Given the description of an element on the screen output the (x, y) to click on. 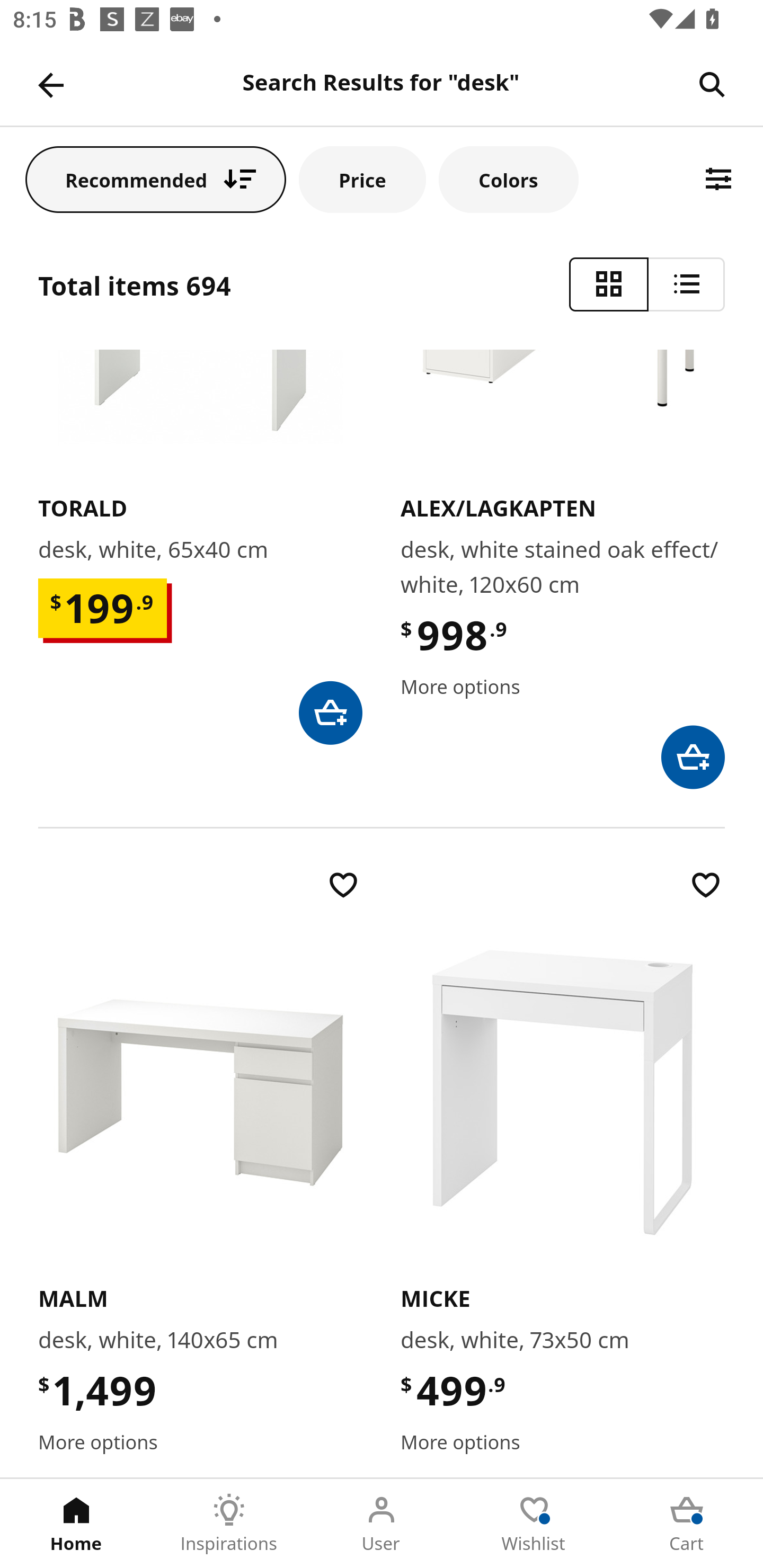
Recommended (155, 179)
Price (362, 179)
Colors (508, 179)
​T​O​R​A​L​D​
desk, white, 65x40 cm
$
199
.9 (200, 546)
Home
Tab 1 of 5 (76, 1522)
Inspirations
Tab 2 of 5 (228, 1522)
User
Tab 3 of 5 (381, 1522)
Wishlist
Tab 4 of 5 (533, 1522)
Cart
Tab 5 of 5 (686, 1522)
